Given the description of an element on the screen output the (x, y) to click on. 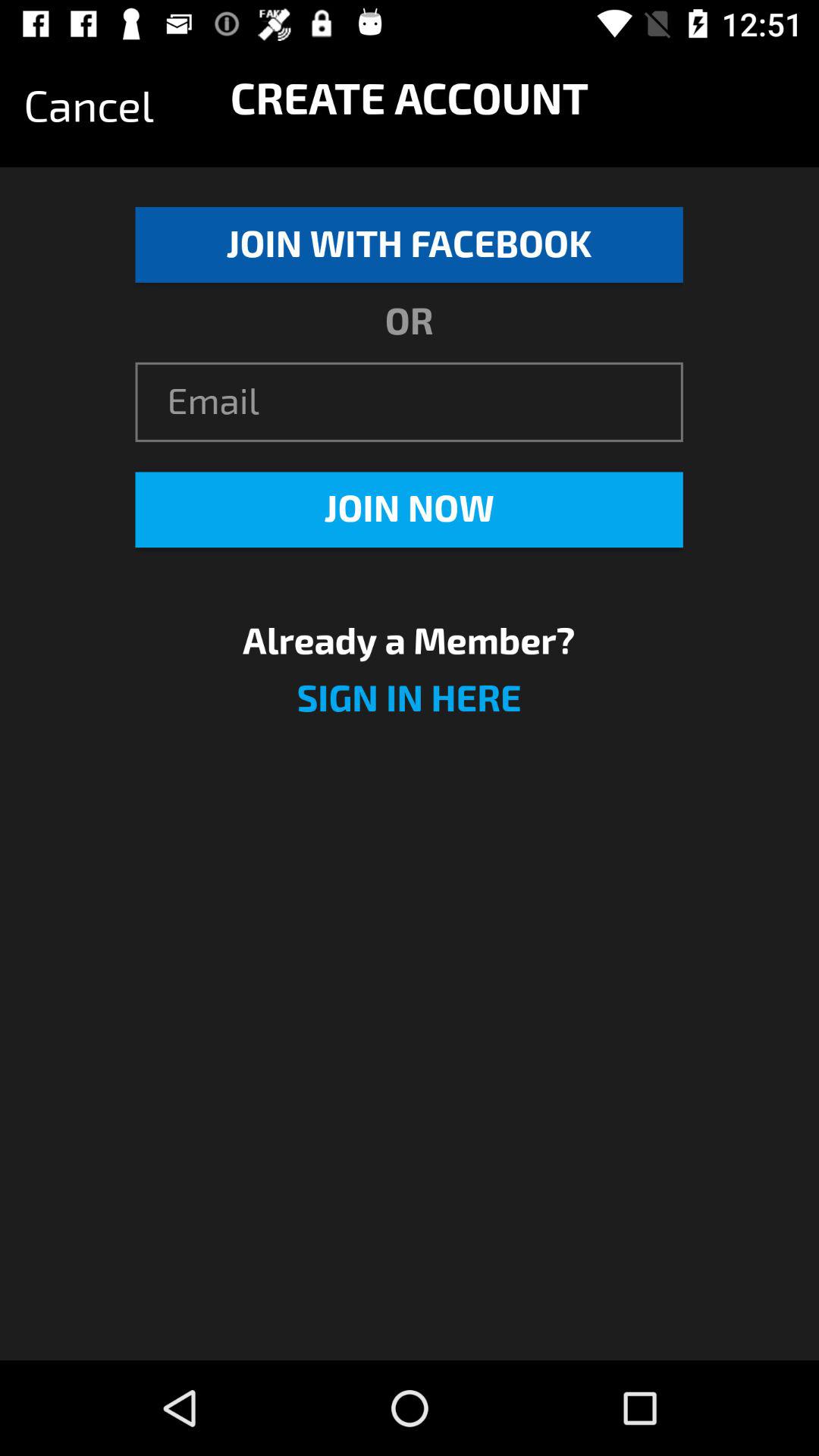
tap cancel at the top left corner (89, 107)
